Given the description of an element on the screen output the (x, y) to click on. 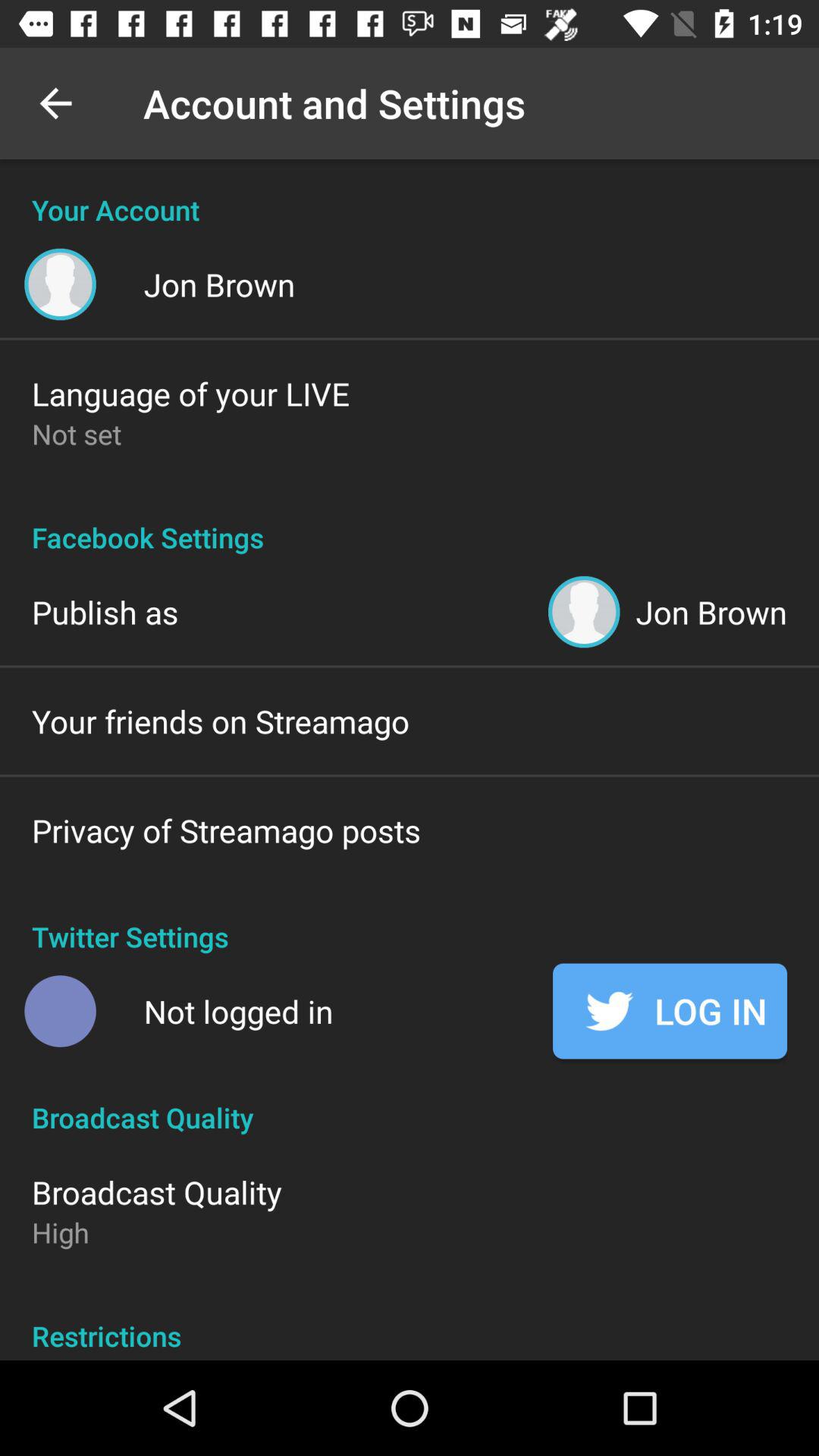
tap language of your item (190, 393)
